Given the description of an element on the screen output the (x, y) to click on. 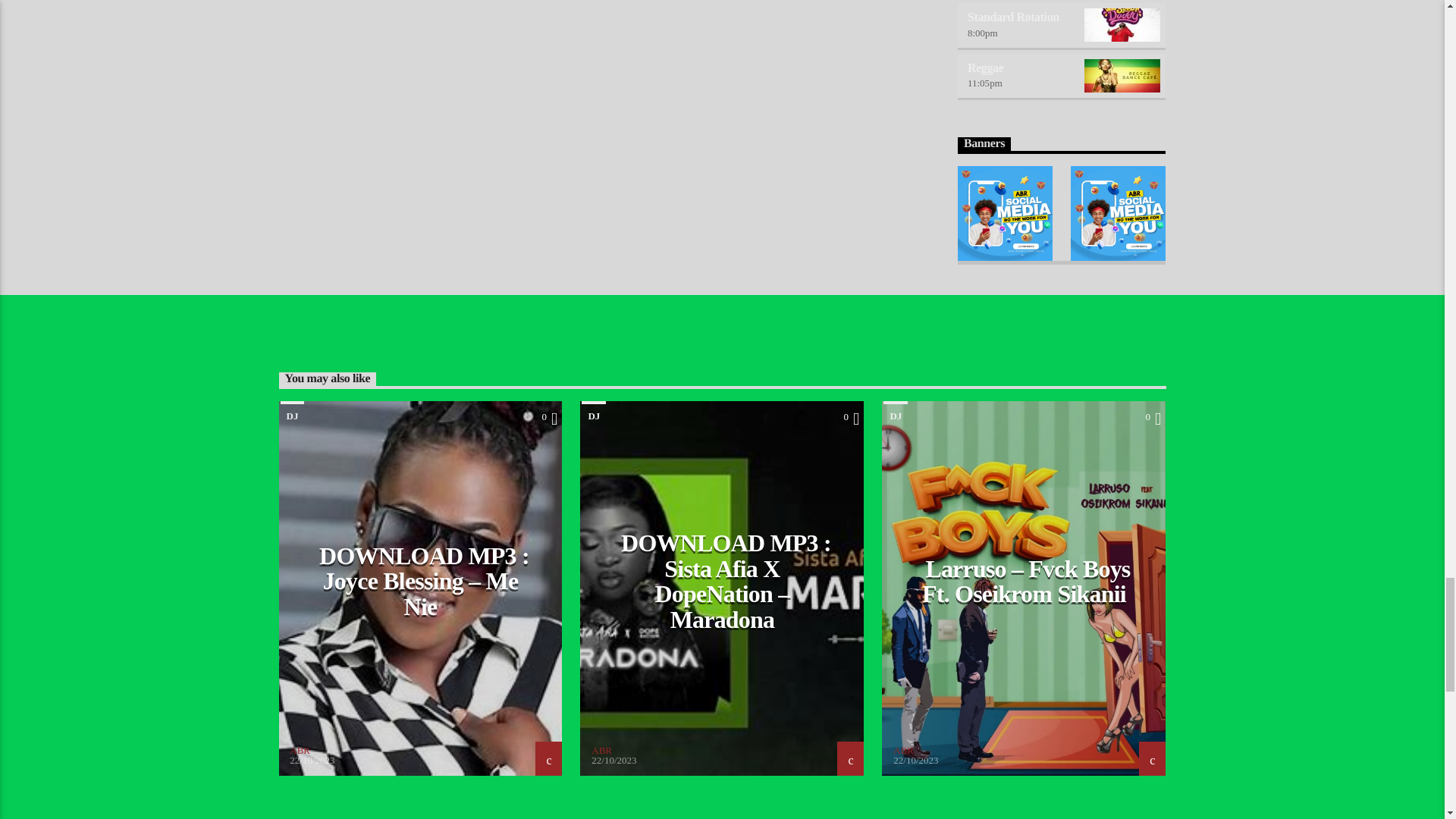
Posts by ABR (903, 749)
Posts by ABR (601, 749)
Posts by ABR (299, 749)
